Given the description of an element on the screen output the (x, y) to click on. 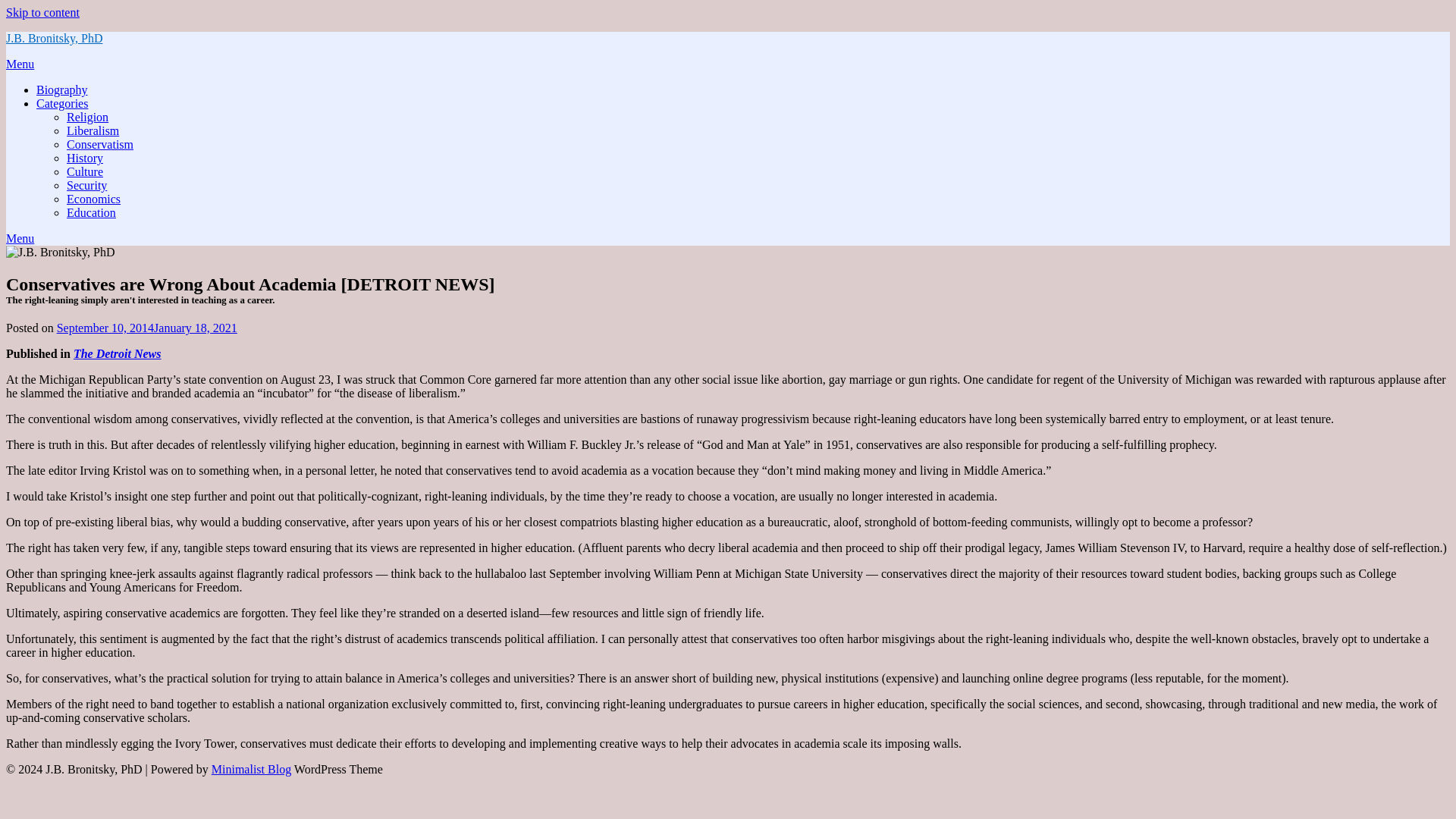
Education (91, 212)
J.B. Bronitsky, PhD (53, 38)
Conservatism (99, 144)
Biography (61, 89)
Liberalism (92, 130)
History (84, 157)
Religion (86, 116)
Menu (19, 63)
Economics (93, 198)
Categories (61, 103)
